Given the description of an element on the screen output the (x, y) to click on. 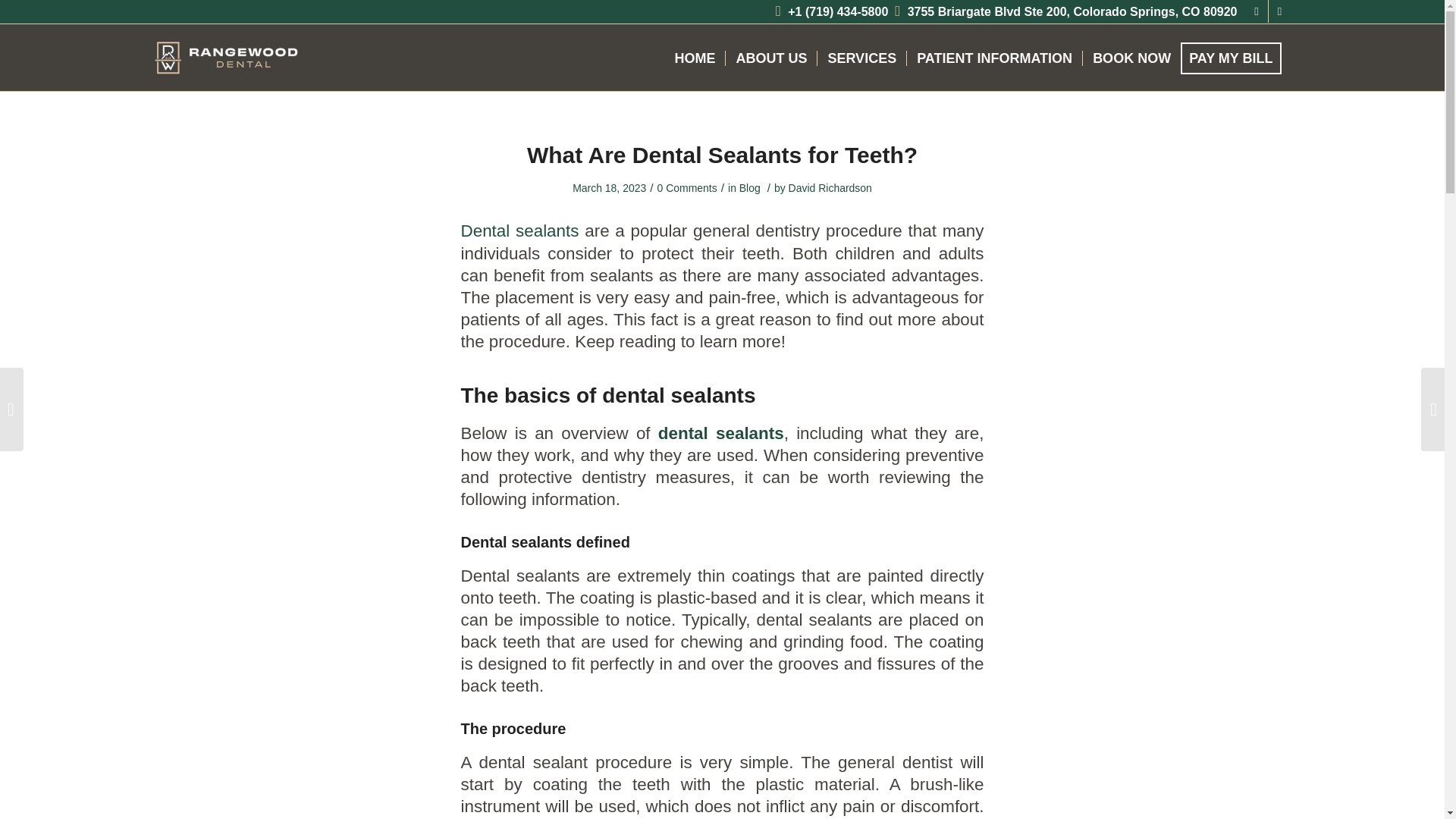
David Richardson (830, 187)
PAY MY BILL (1235, 57)
Permanent Link: What Are Dental Sealants for Teeth? (722, 154)
Facebook (1255, 11)
Visit our Dental Sealants page (520, 230)
Blog (749, 187)
Posts by David Richardson (830, 187)
0 Comments (687, 187)
Dental sealants (520, 230)
BOOK NOW (1130, 57)
